Given the description of an element on the screen output the (x, y) to click on. 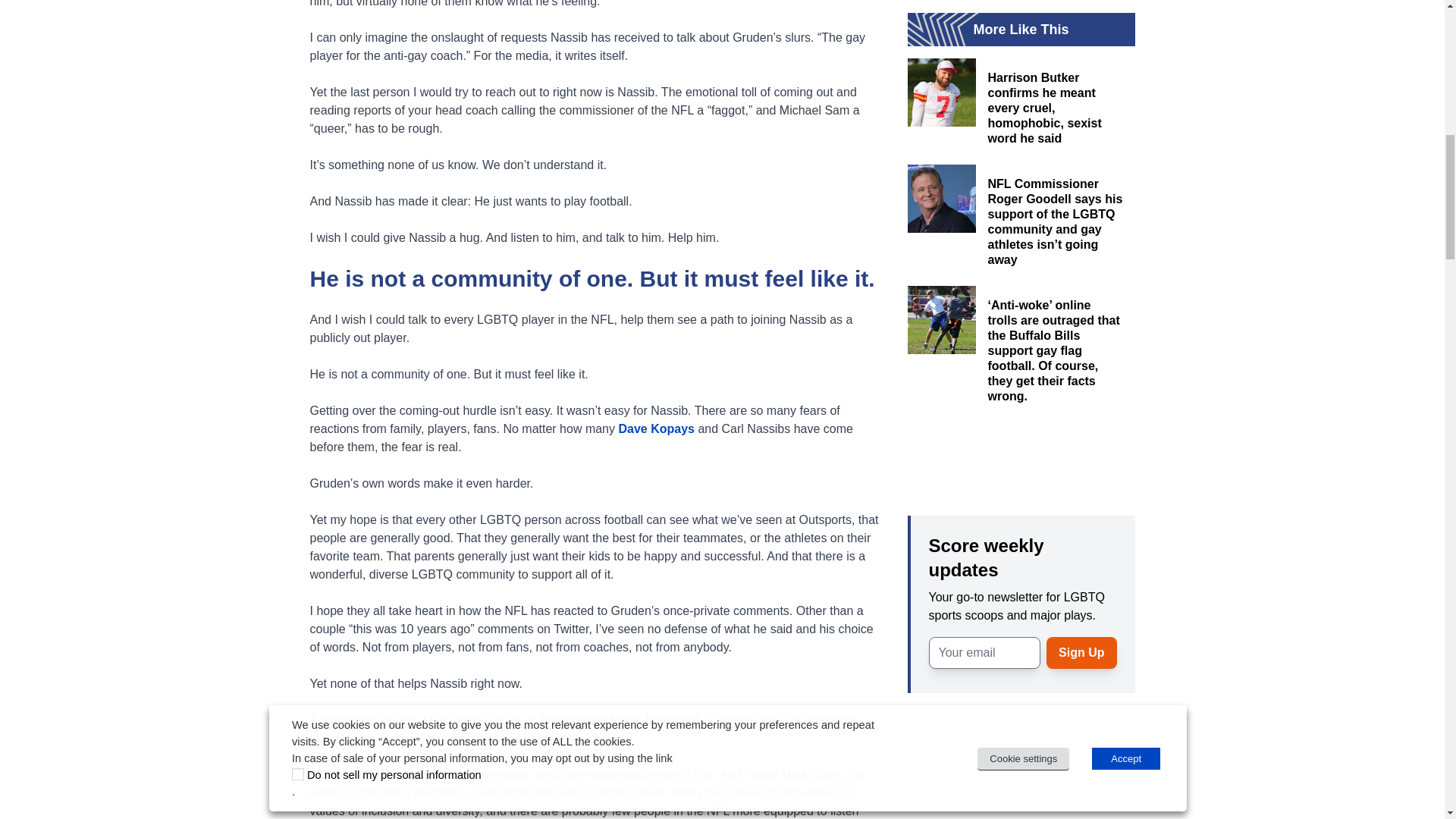
knowing he has a boyfriend (620, 718)
Dave Kopays (654, 427)
Sign Up (1081, 653)
